Given the description of an element on the screen output the (x, y) to click on. 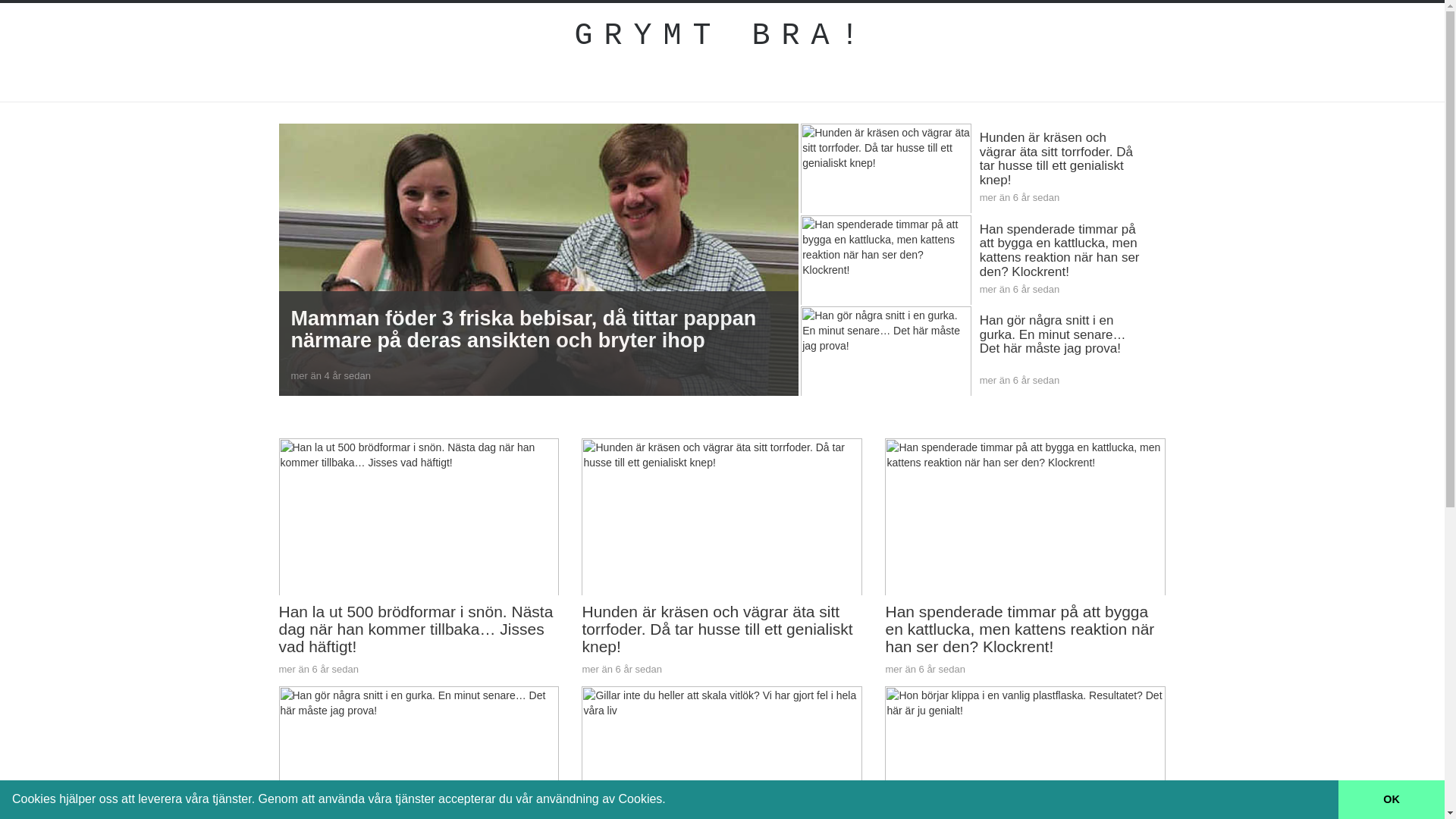
GRYMT BRA! Element type: text (722, 35)
